Given the description of an element on the screen output the (x, y) to click on. 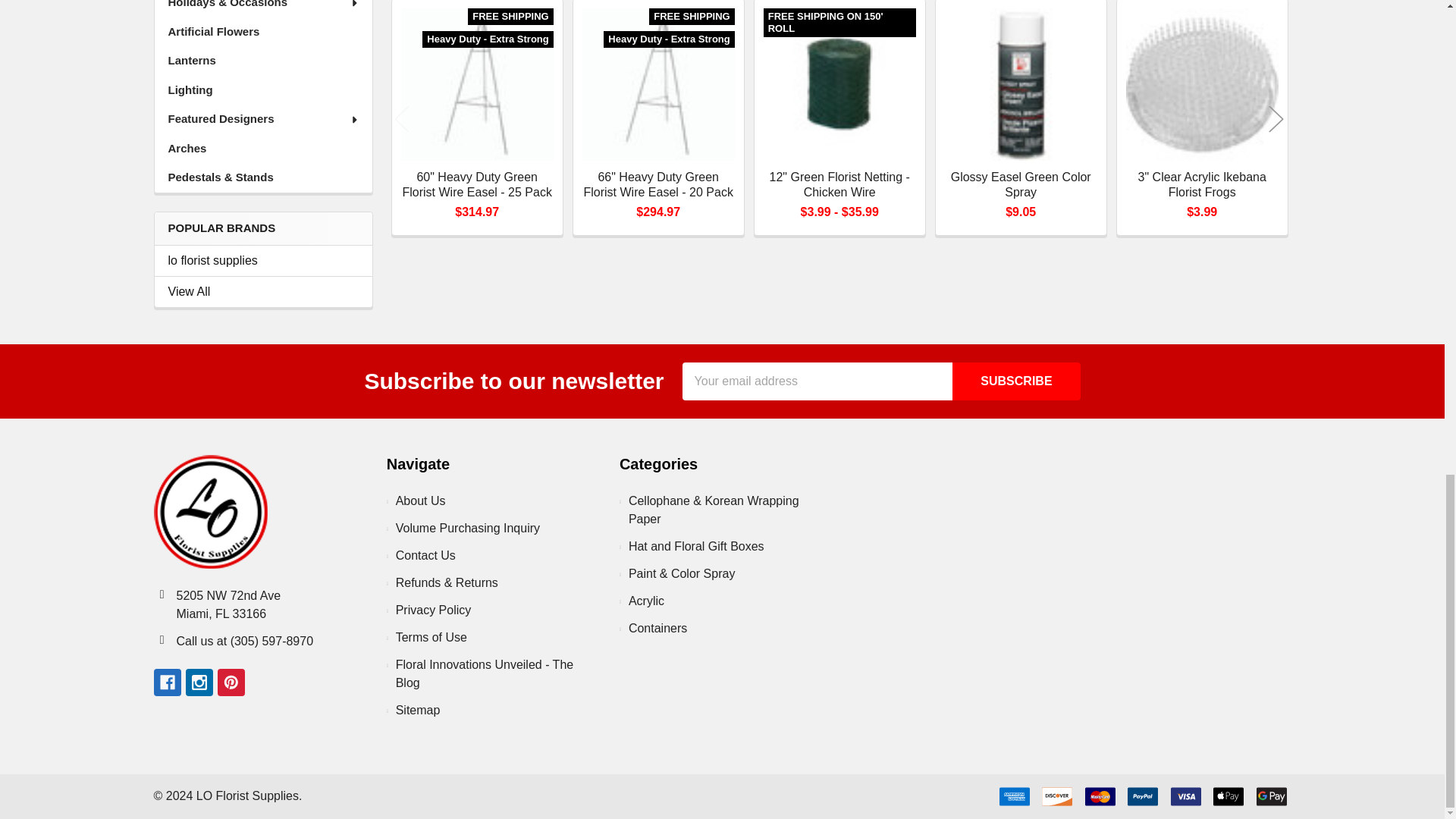
Glossy Easel Green Color Spray (1020, 84)
Subscribe (1016, 381)
60" Heavy Duty Green Florist Wire Easel - 25 Pack (477, 84)
12" Green Florist Netting - Chicken Wire (838, 84)
lo florist supplies (263, 260)
66" Heavy Duty Green Florist Wire Easel - 20 Pack (658, 84)
